Given the description of an element on the screen output the (x, y) to click on. 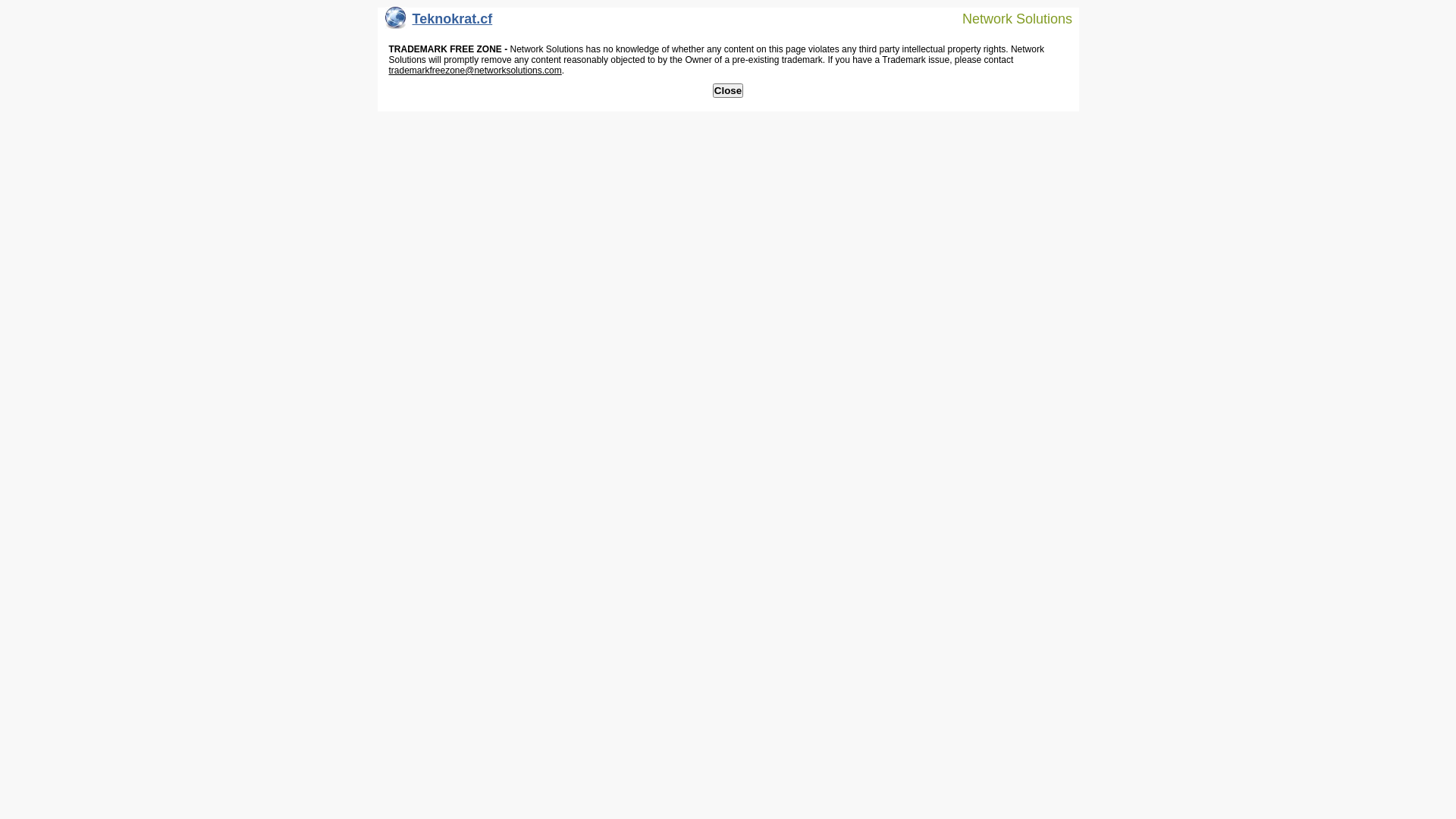
trademarkfreezone@networksolutions.com Element type: text (474, 70)
Close Element type: text (727, 90)
Teknokrat.cf Element type: text (438, 21)
Network Solutions Element type: text (1007, 17)
